Given the description of an element on the screen output the (x, y) to click on. 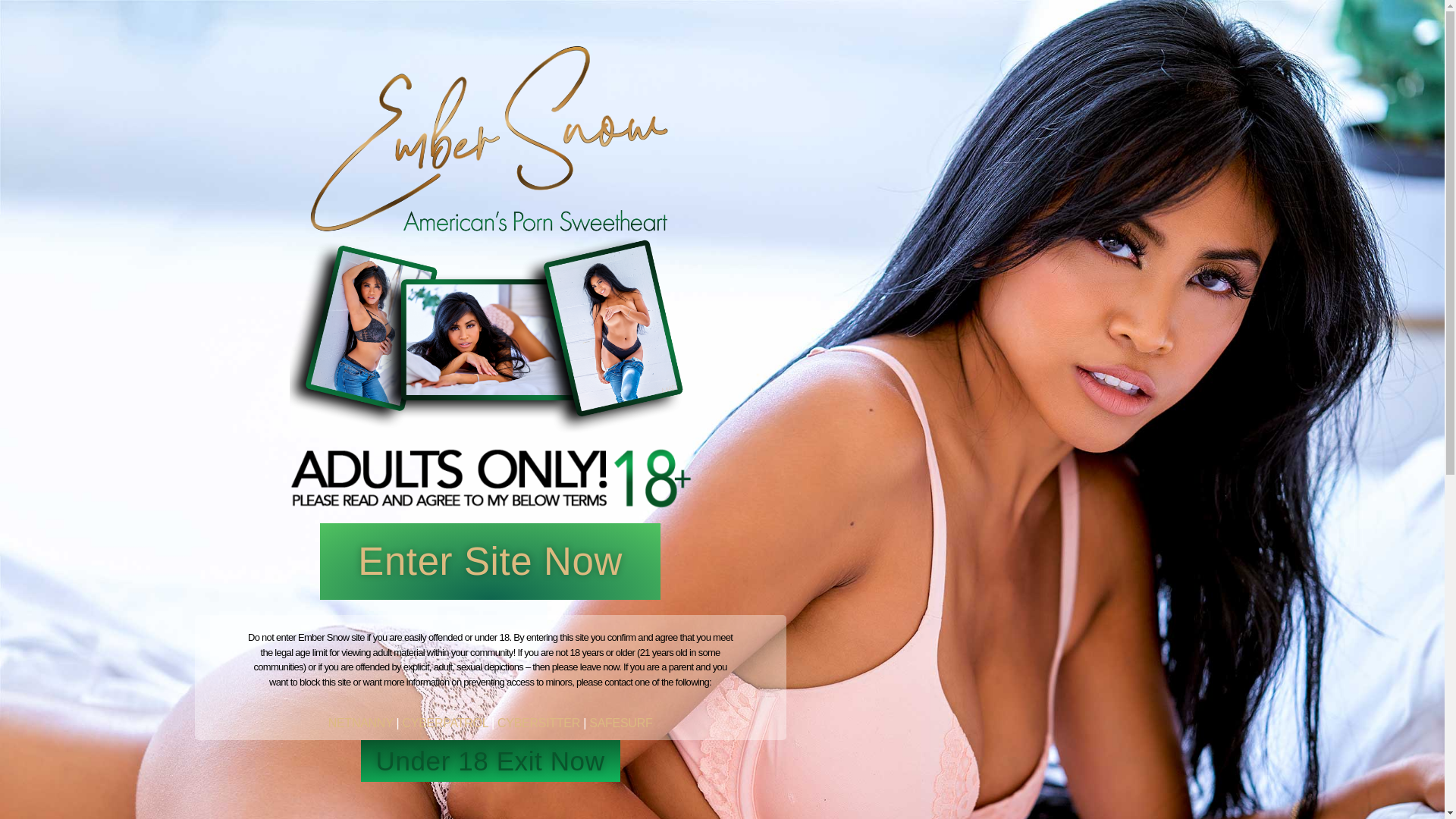
Tour Dates (432, 146)
Become A Member (989, 146)
Login (1091, 146)
LINKS (885, 146)
WebCam Sessions (723, 146)
ADD TO CART (941, 509)
Castle Real Sex Pt 1 (505, 367)
Who Wants To Lose It? (564, 146)
Home (353, 146)
Home (752, 264)
Shop (823, 146)
Embersnowlogo (721, 64)
Pay Per Post (812, 264)
